Given the description of an element on the screen output the (x, y) to click on. 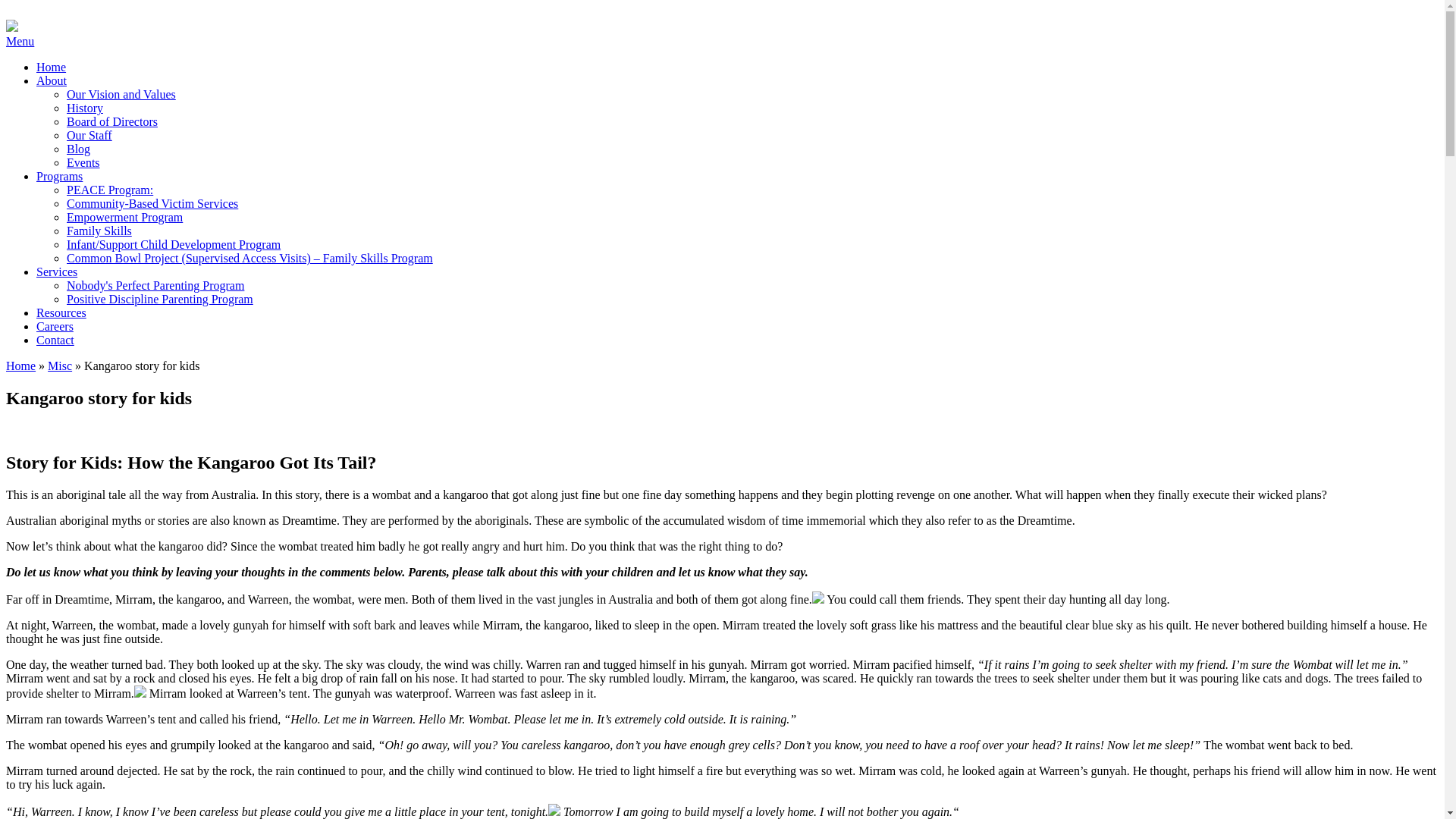
PEACE Program: (109, 189)
Resources (60, 312)
Misc (59, 365)
Nobody's Perfect Parenting Program (155, 285)
Empowerment Program (124, 216)
Positive Discipline Parenting Program (159, 298)
Family Skills (99, 230)
Blog (78, 148)
Community-Based Victim Services (152, 203)
Home (19, 365)
Programs (59, 175)
Menu (19, 41)
Careers (55, 326)
Home (50, 66)
Events (83, 162)
